Given the description of an element on the screen output the (x, y) to click on. 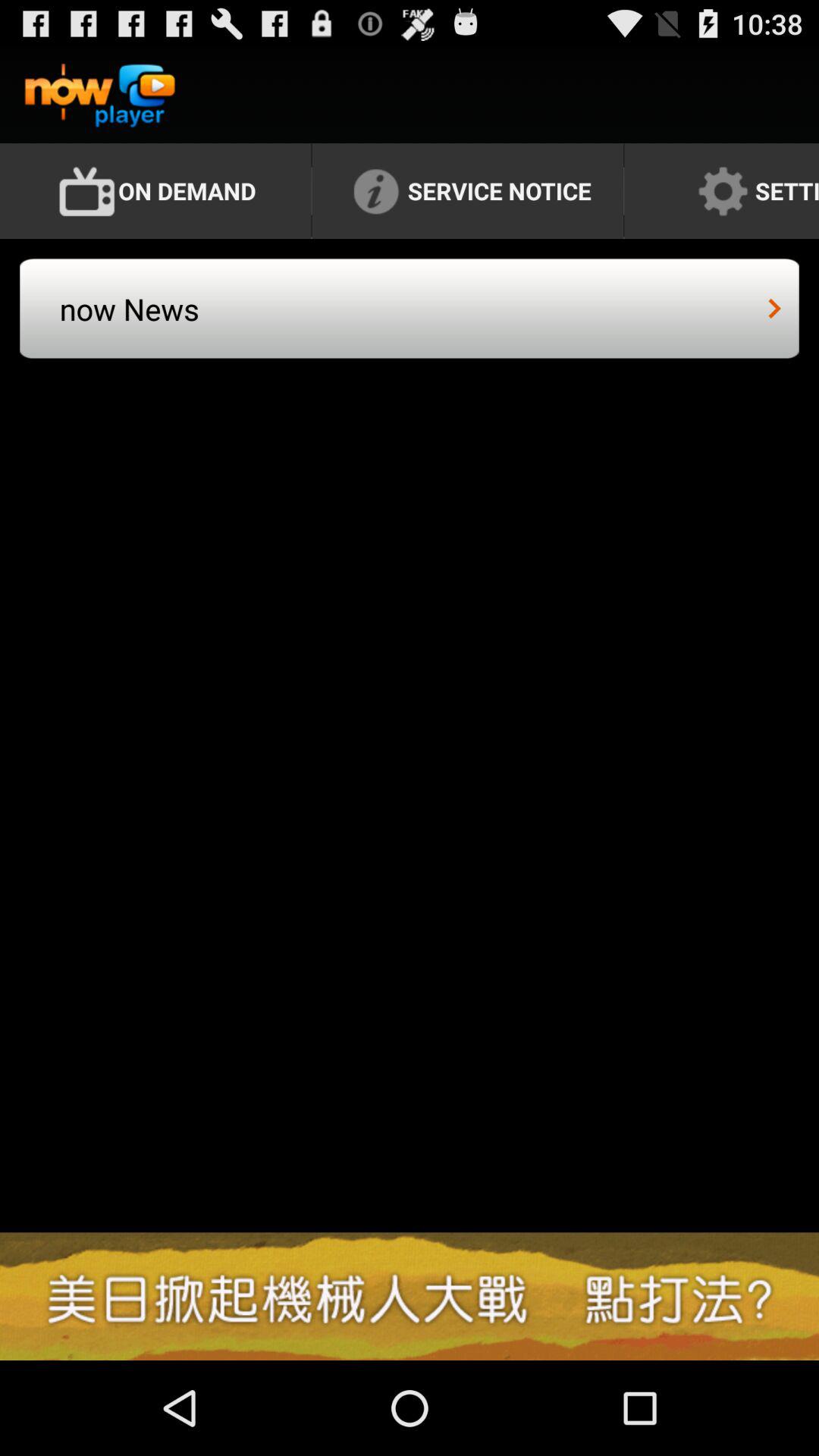
launch the item at the bottom (409, 1296)
